Given the description of an element on the screen output the (x, y) to click on. 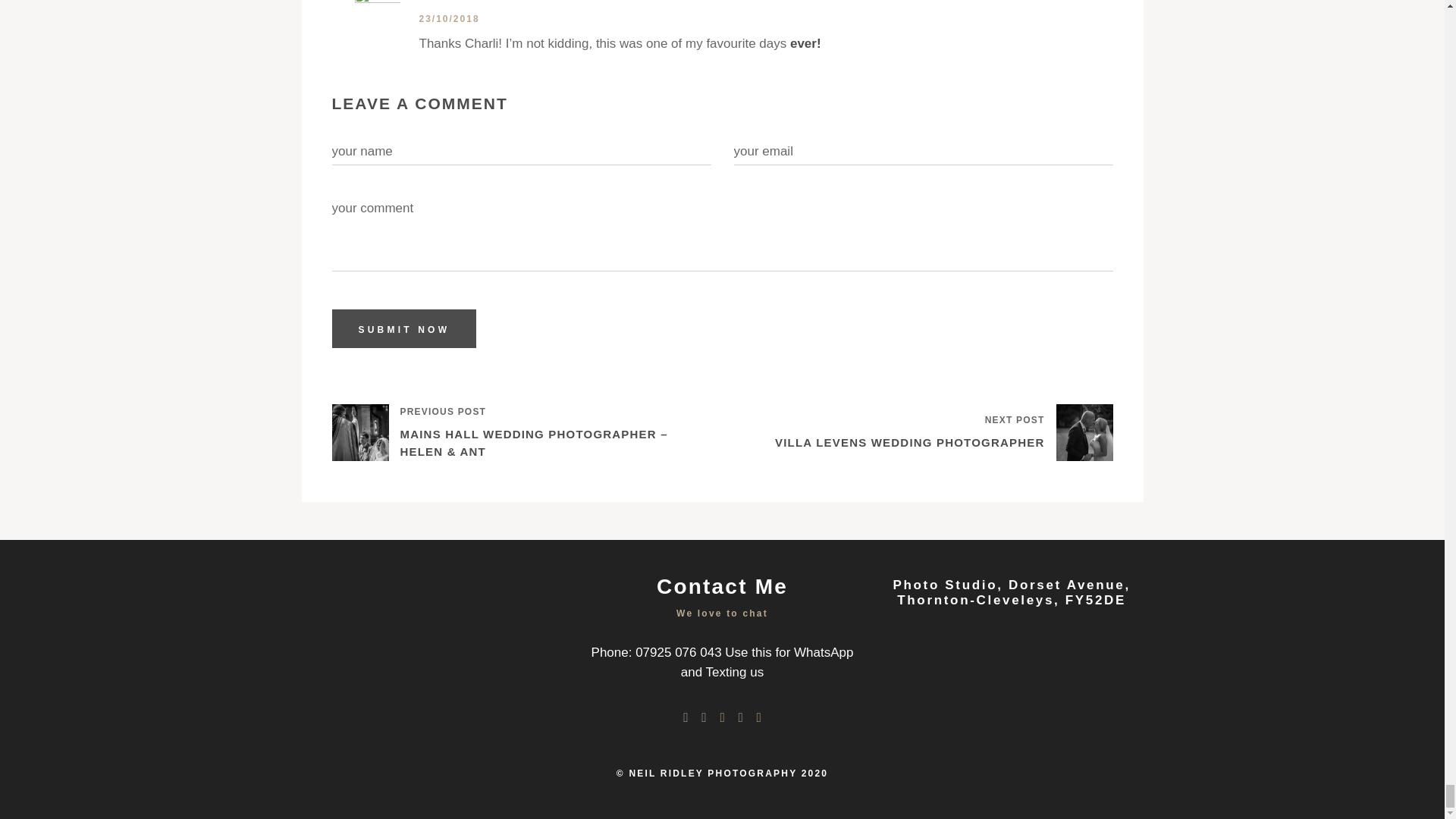
REPLY (1094, 0)
Submit Now (404, 328)
VILLA LEVENS WEDDING PHOTOGRAPHER (908, 443)
Submit Now (404, 328)
